Given the description of an element on the screen output the (x, y) to click on. 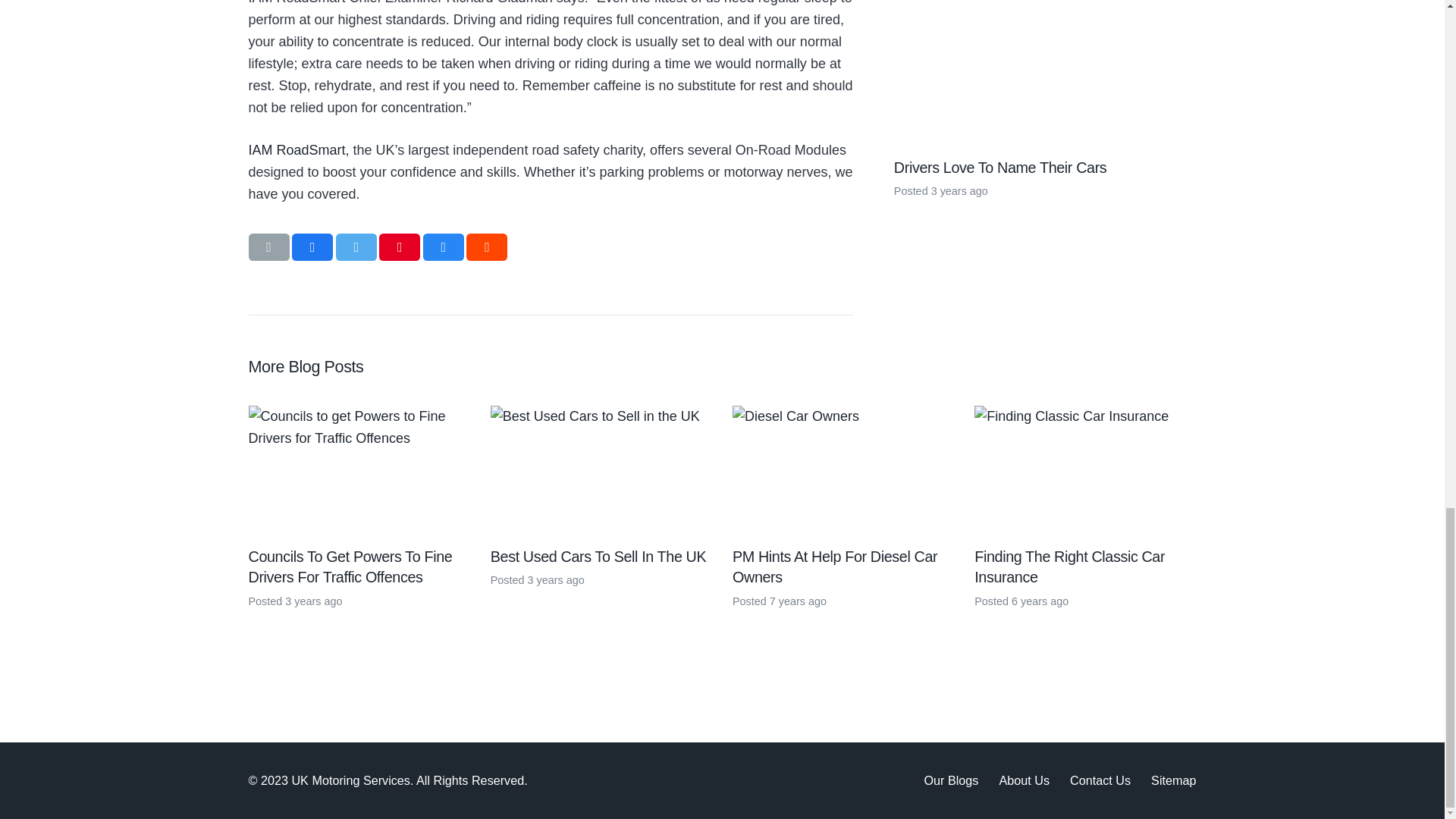
IAM RoadSmart (297, 150)
Pin this (399, 247)
Email this (268, 247)
Share this (485, 247)
PM Hints At Help For Diesel Car Owners (834, 566)
Councils To Get Powers To Fine Drivers For Traffic Offences (350, 566)
Best Used Cars To Sell In The UK (598, 556)
Share this (443, 247)
Share this (312, 247)
Finding The Right Classic Car Insurance (1069, 566)
